Given the description of an element on the screen output the (x, y) to click on. 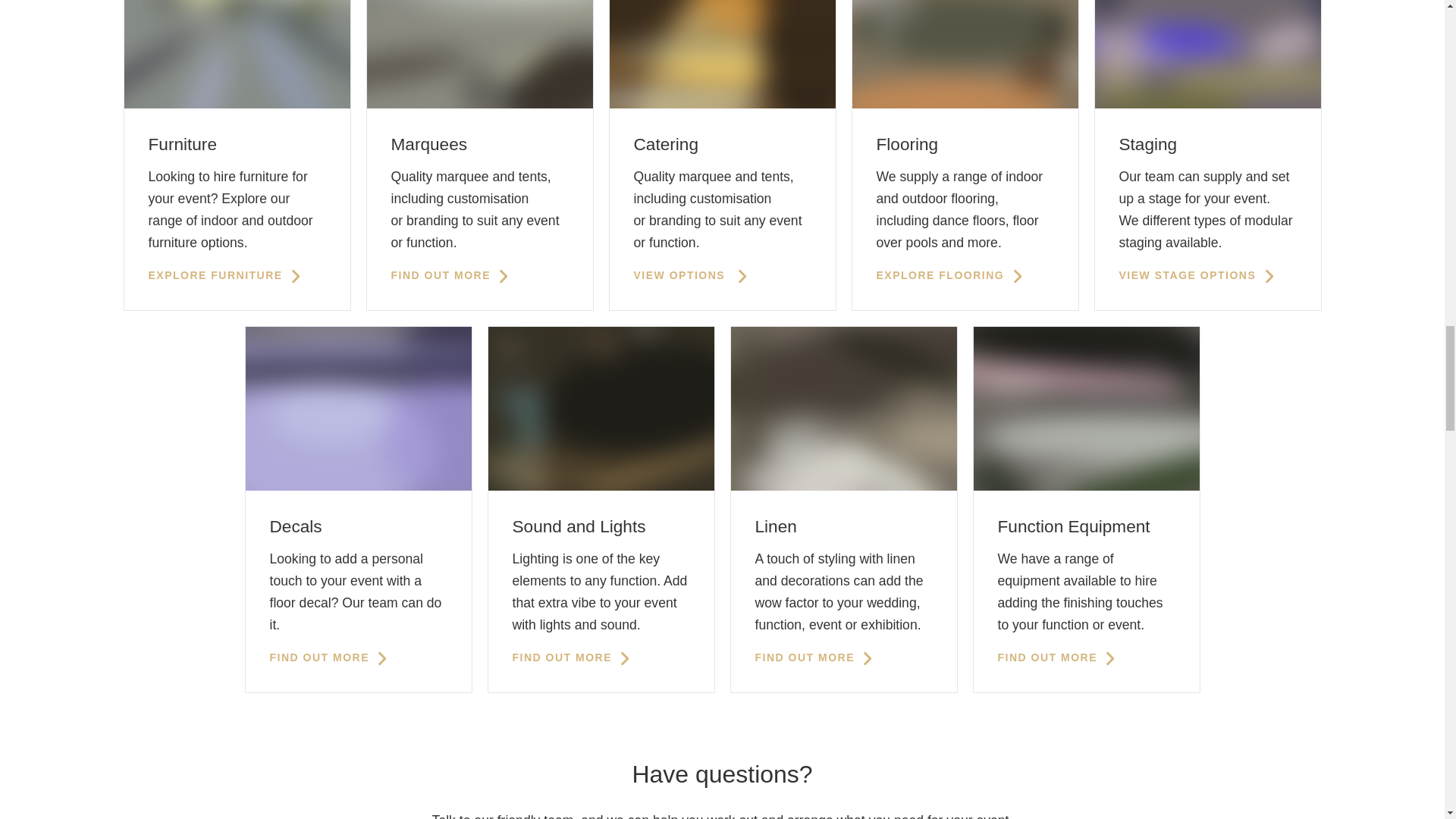
VIEW OPTIONS   (692, 275)
FIND OUT MORE (451, 275)
EXPLORE FURNITURE (226, 275)
